Given the description of an element on the screen output the (x, y) to click on. 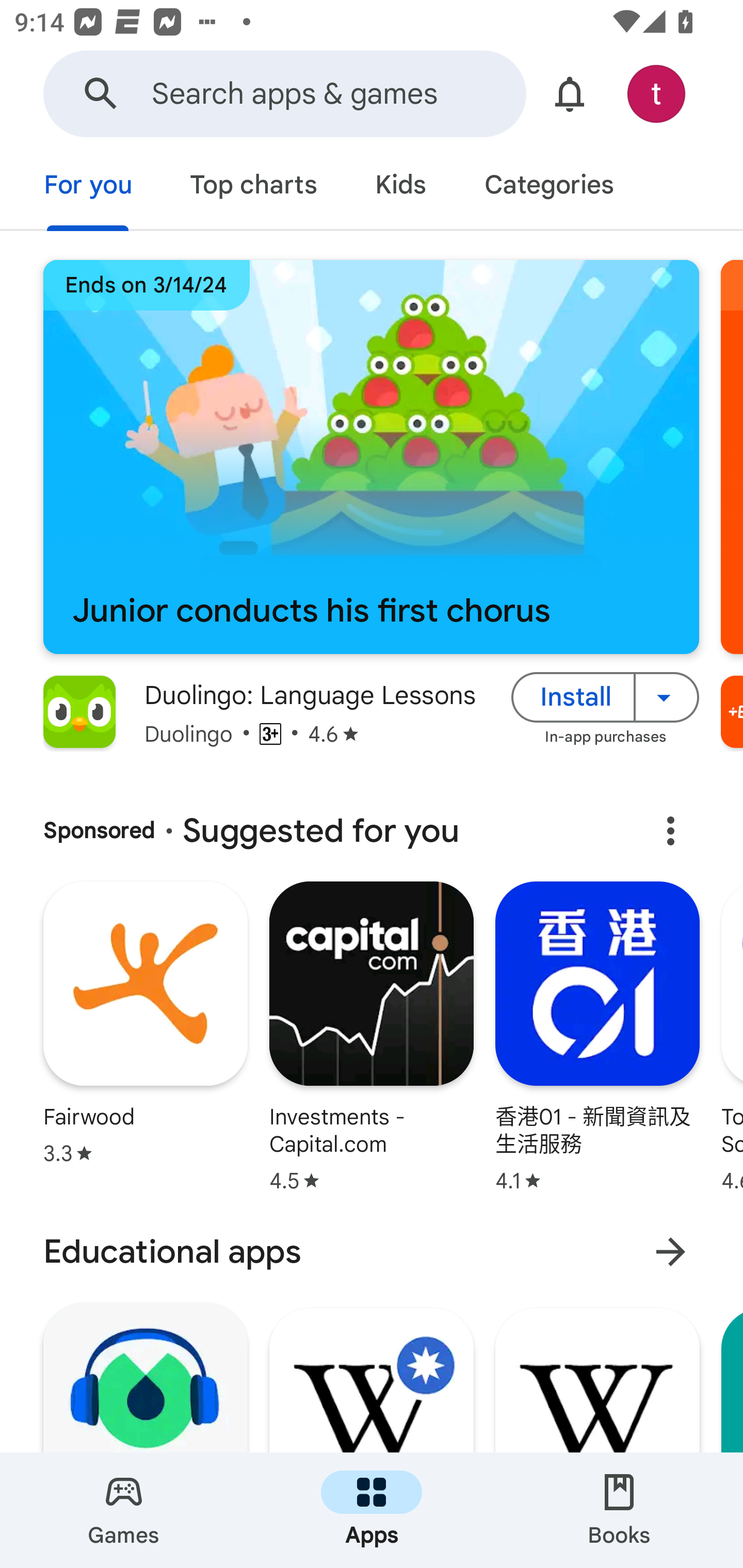
Search Google Play Search apps & games (284, 93)
Search Google Play (100, 93)
Show notifications and offers. (569, 93)
Top charts (253, 187)
Kids (400, 187)
Categories (548, 187)
Junior conducts his first chorus Ends on 3/14/24 (371, 456)
Install Install Install on more devices (605, 696)
Install on more devices (666, 696)
About this ad (670, 830)
Fairwood
Star rating: 3.3
 (145, 1025)
Investments - Capital.com
Star rating: 4.5
 (371, 1038)
香港01 - 新聞資訊及生活服務
Star rating: 4.1
 (597, 1038)
Educational apps More results for Educational apps (371, 1252)
More results for Educational apps (670, 1251)
Games (123, 1509)
Books (619, 1509)
